Given the description of an element on the screen output the (x, y) to click on. 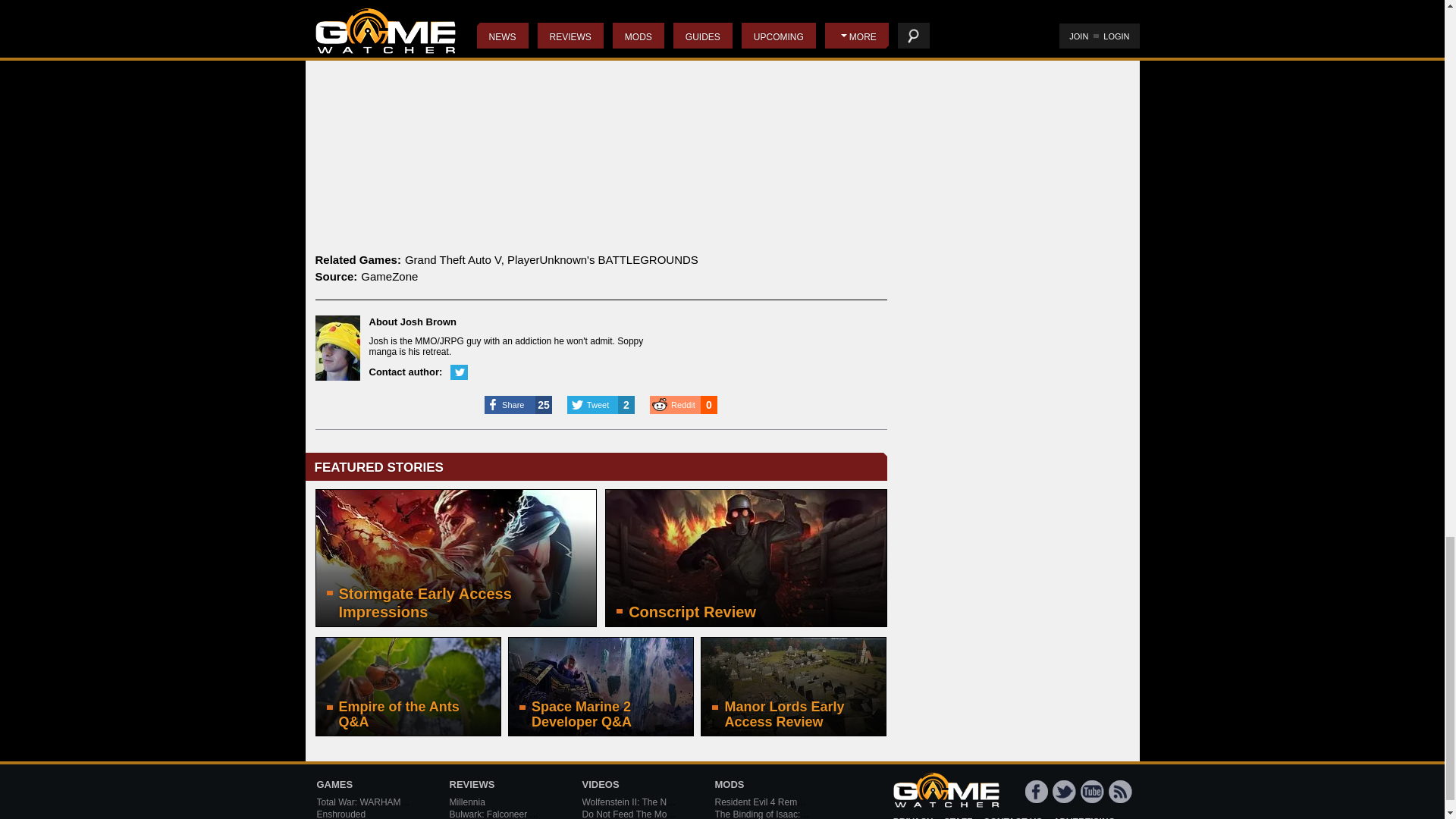
GameZone (389, 276)
Grand Theft Auto V (452, 259)
PlayerUnknown's BATTLEGROUNDS (602, 259)
